Given the description of an element on the screen output the (x, y) to click on. 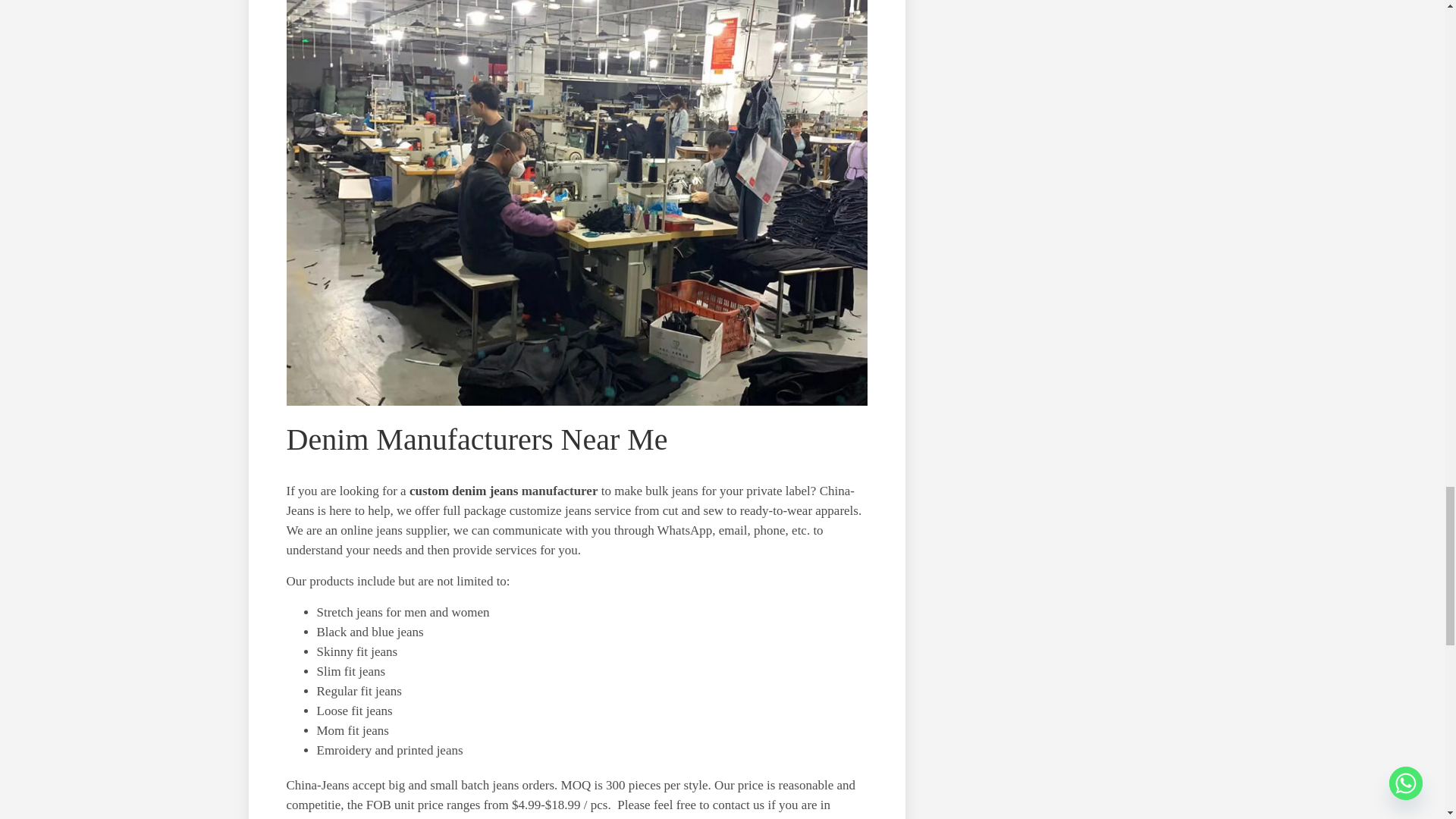
custom denim jeans (463, 490)
